Given the description of an element on the screen output the (x, y) to click on. 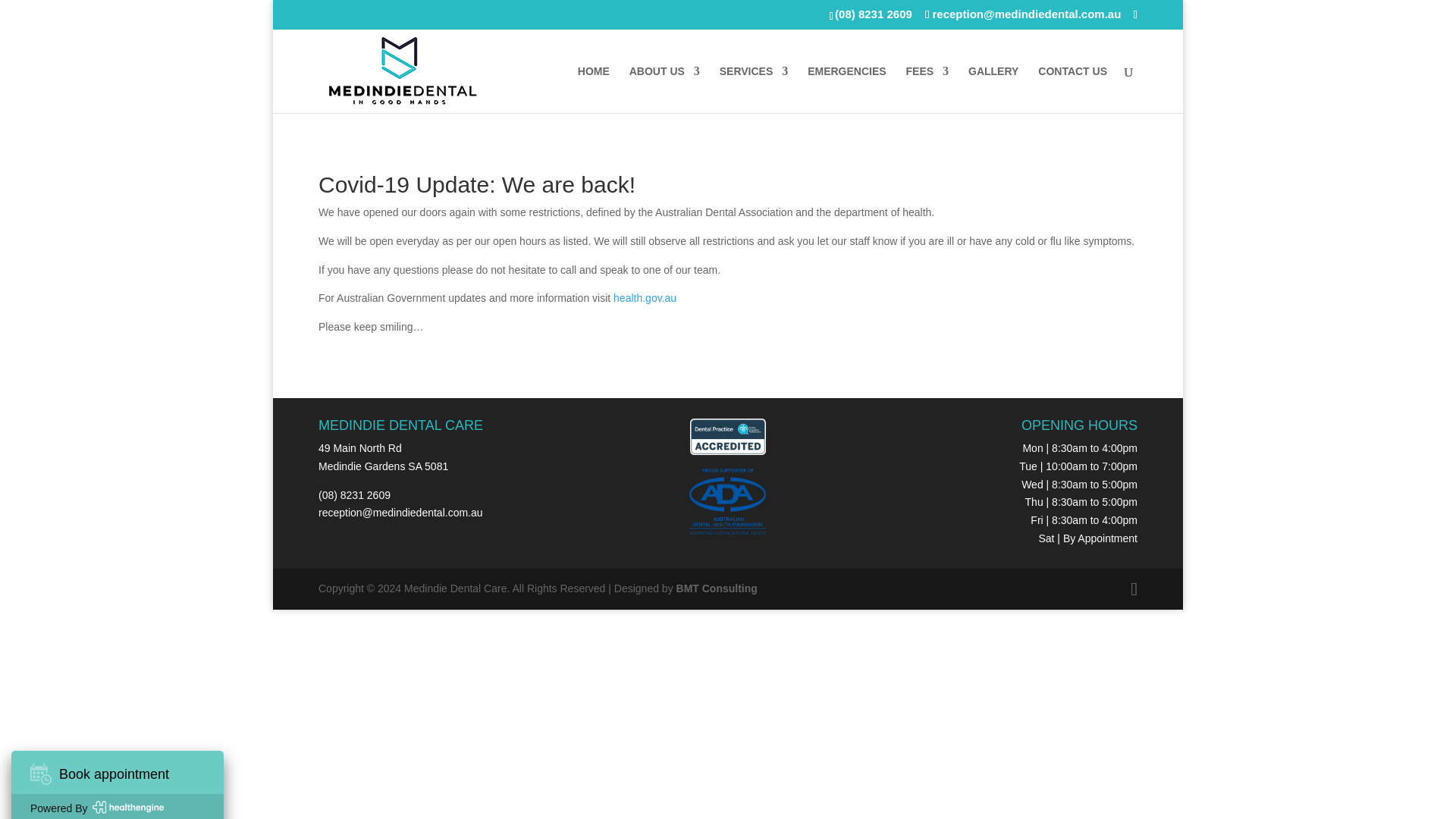
SERVICES (754, 88)
CONTACT US (1072, 88)
EMERGENCIES (846, 88)
GALLERY (992, 88)
FEES (927, 88)
ABOUT US (664, 88)
